Given the description of an element on the screen output the (x, y) to click on. 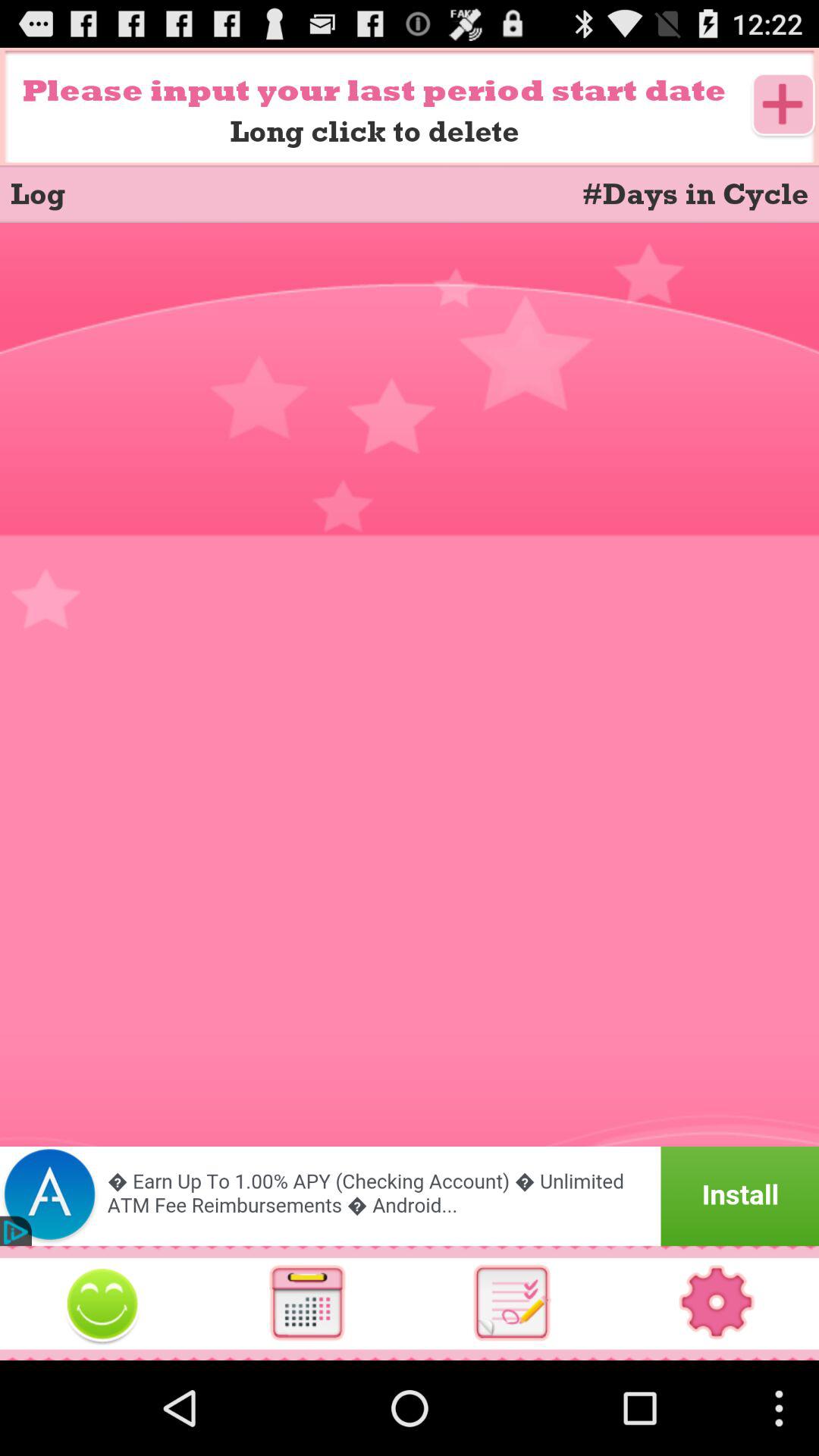
edit (102, 1302)
